Given the description of an element on the screen output the (x, y) to click on. 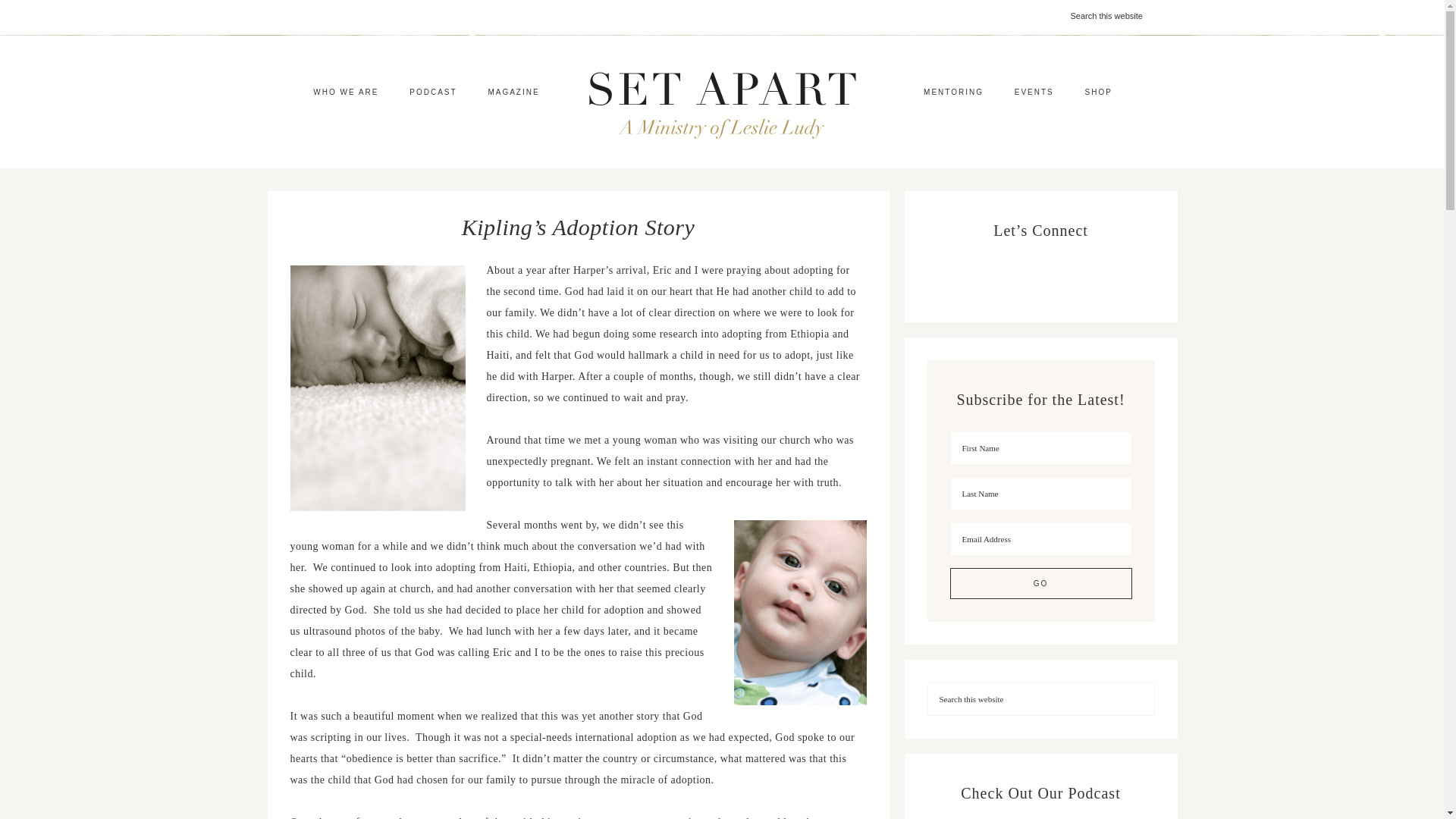
SHOP (1098, 92)
PODCAST (433, 92)
SET APART (722, 101)
MENTORING (953, 92)
Go (1040, 583)
MAGAZINE (513, 92)
EVENTS (1034, 92)
Go (1040, 583)
